Given the description of an element on the screen output the (x, y) to click on. 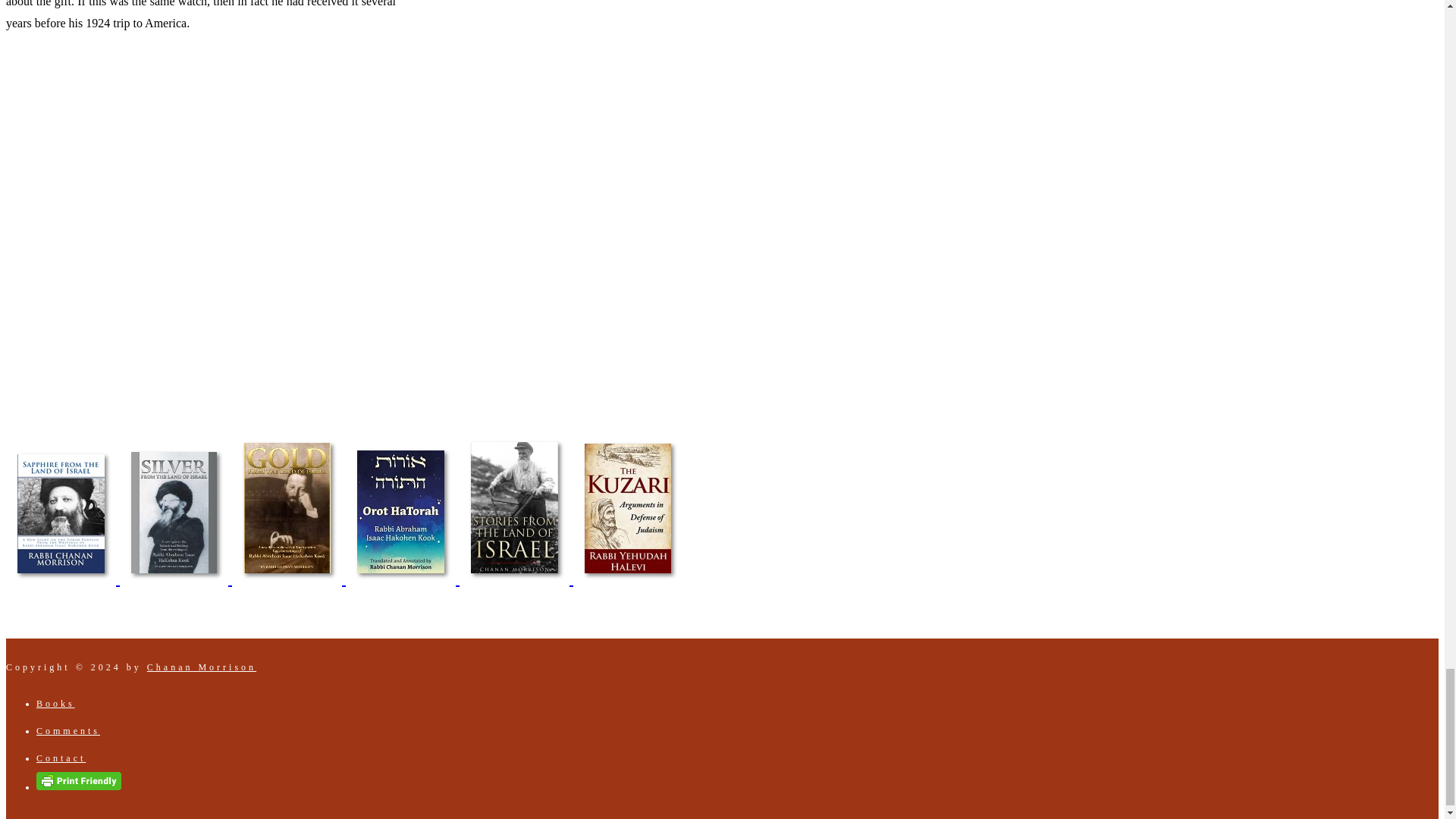
Printer Friendly and PDF (78, 787)
Contact (60, 757)
Comments (68, 730)
Books (55, 703)
Chanan Morrison (201, 666)
